Given the description of an element on the screen output the (x, y) to click on. 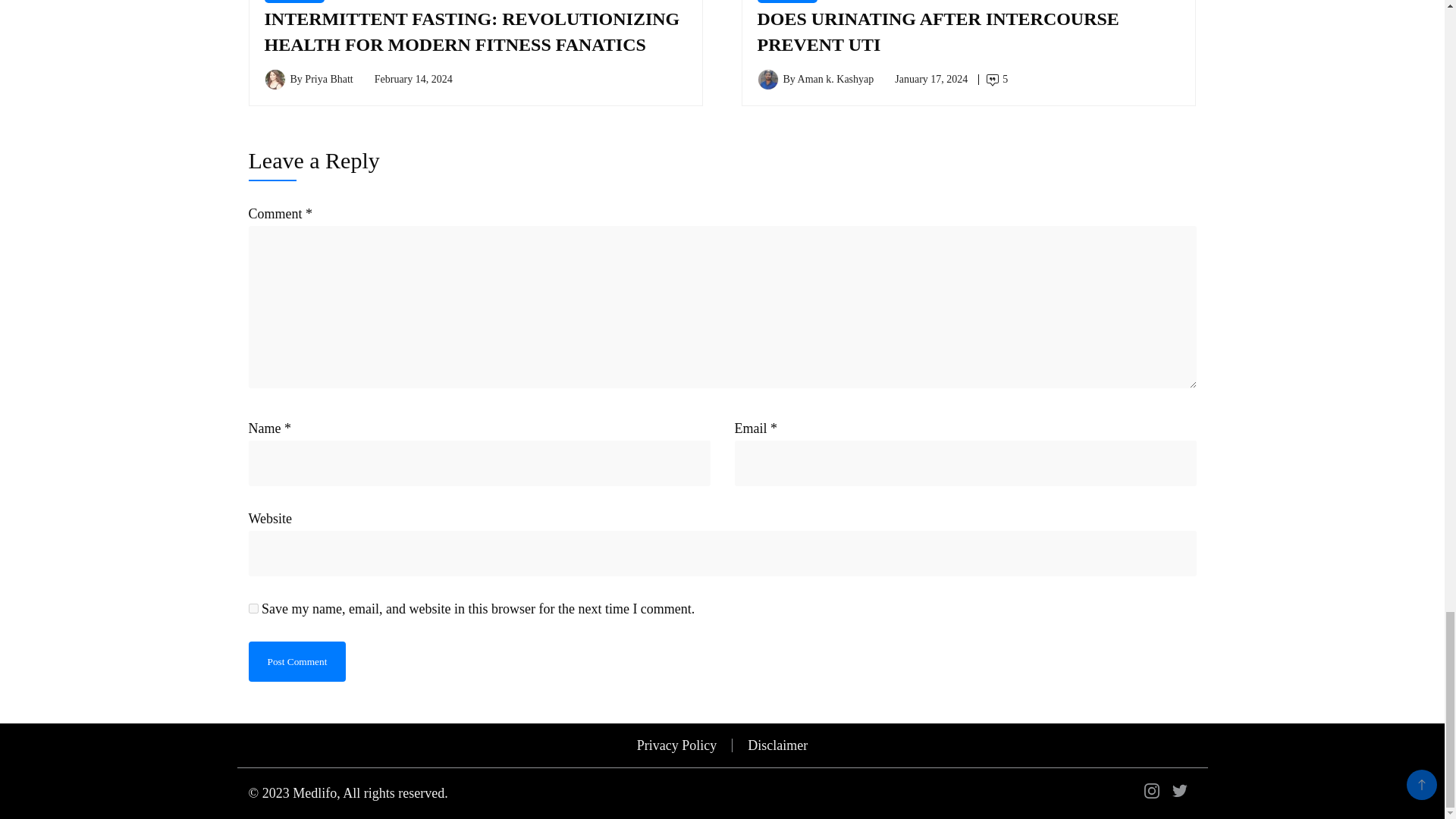
Health news (293, 1)
Post Comment (297, 661)
yes (253, 608)
